Given the description of an element on the screen output the (x, y) to click on. 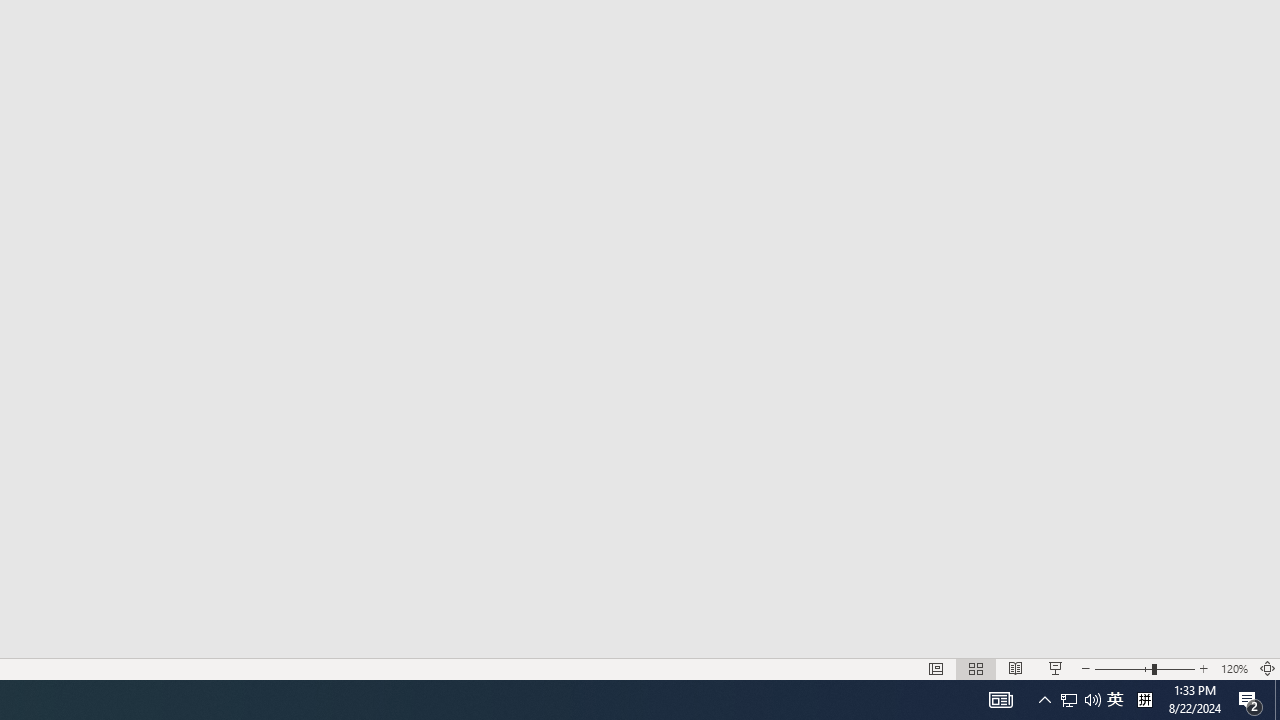
Zoom 120% (1234, 668)
